Given the description of an element on the screen output the (x, y) to click on. 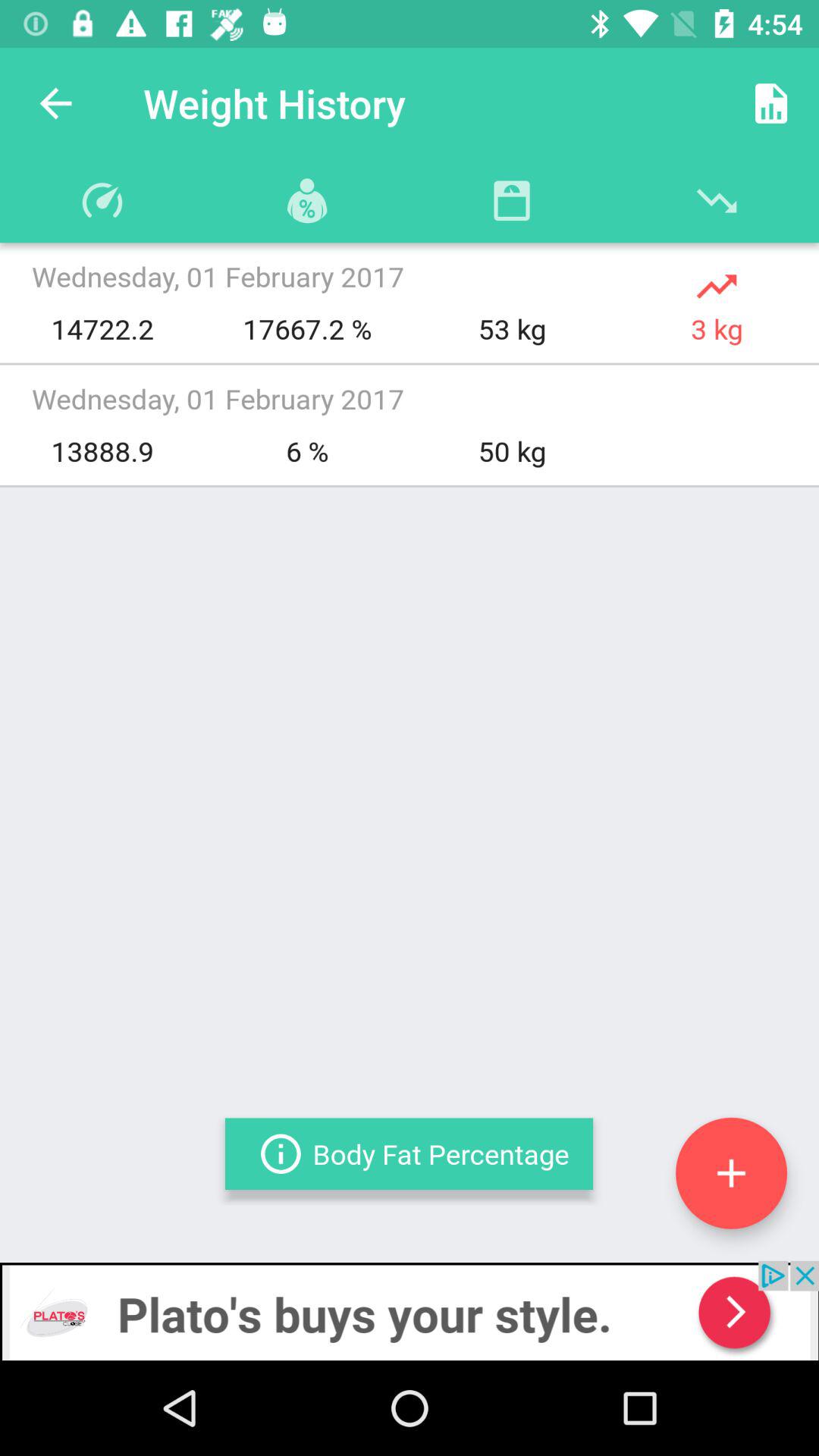
add another entry (731, 1173)
